Given the description of an element on the screen output the (x, y) to click on. 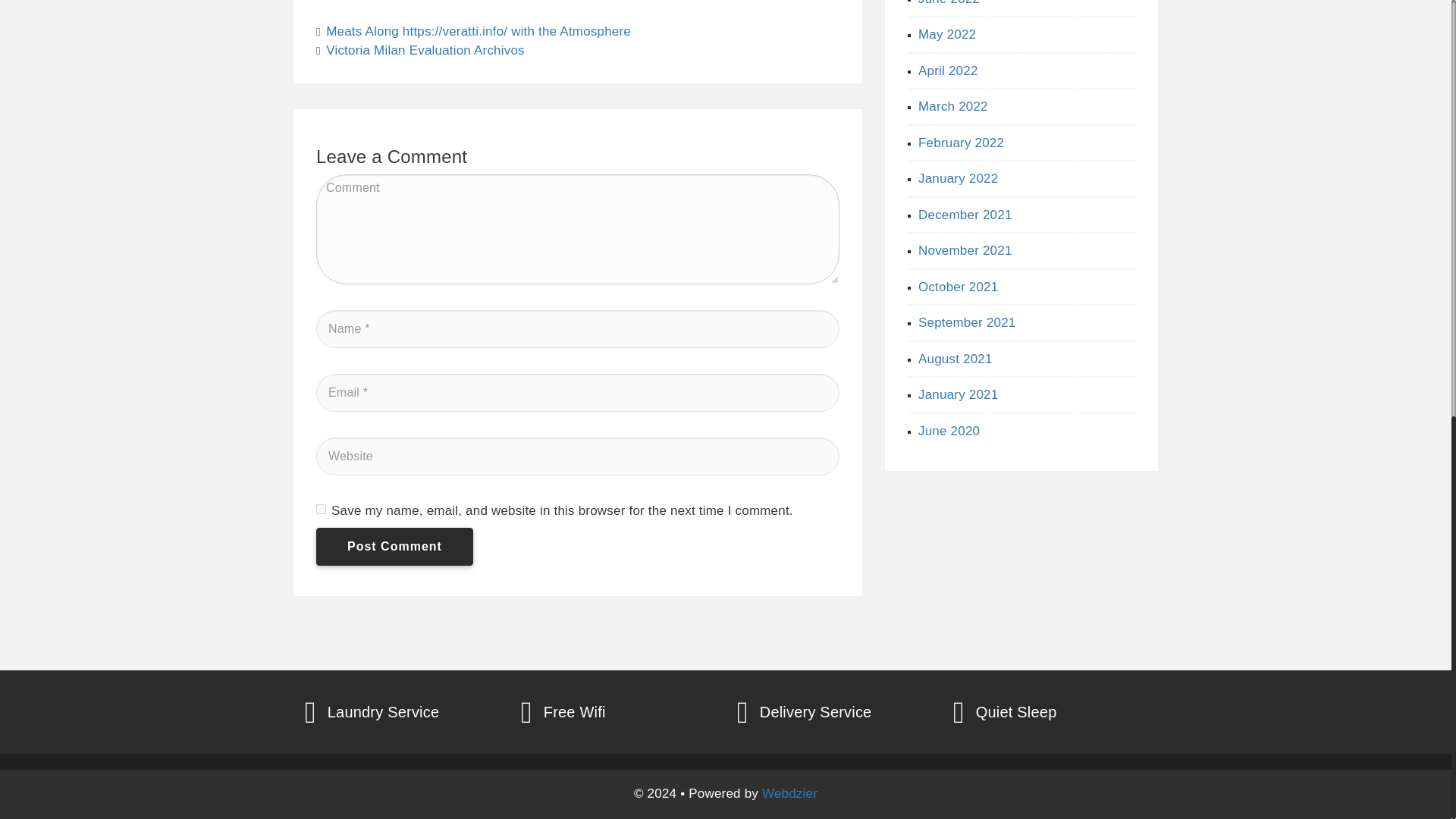
Post Comment (394, 546)
September 2021 (967, 322)
February 2022 (961, 142)
November 2021 (964, 250)
April 2022 (948, 70)
June 2020 (948, 430)
January 2021 (957, 394)
January 2022 (957, 178)
May 2022 (946, 34)
yes (320, 509)
